Given the description of an element on the screen output the (x, y) to click on. 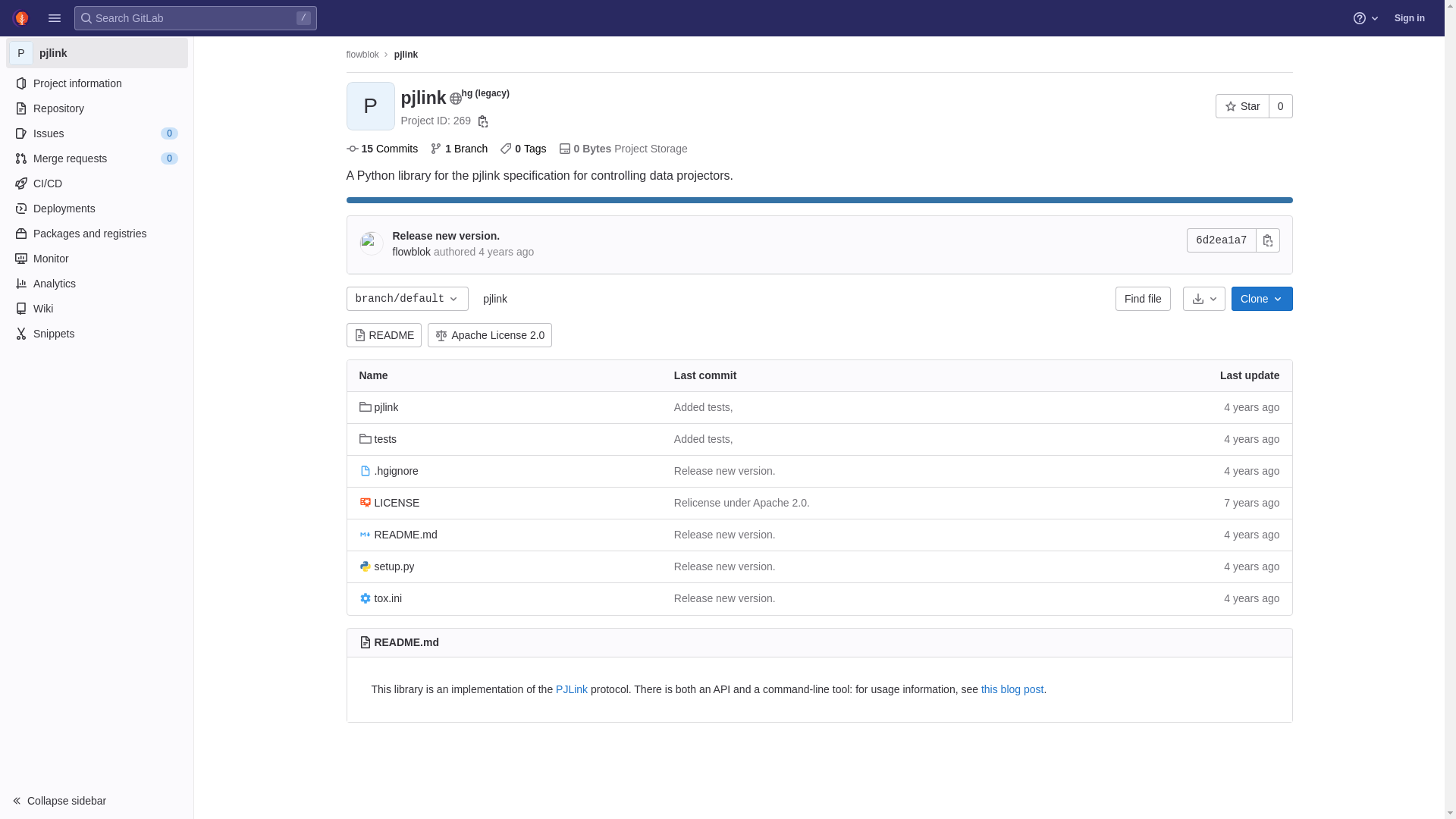
PJLink Element type: text (571, 689)
Release new version. Element type: text (724, 566)
Release new version. Element type: text (724, 598)
Select Archive Format Element type: text (1204, 298)
Copy commit SHA Element type: hover (1267, 240)
Apache License 2.0 Element type: text (489, 335)
flowblok Element type: text (361, 54)
15
 Commits Element type: text (381, 148)
README Element type: text (383, 335)
Analytics Element type: text (96, 283)
Clone Element type: text (1261, 298)
Find file Element type: text (1142, 298)
Wiki Element type: text (96, 308)
LICENSE Element type: text (389, 503)
Project information Element type: text (96, 83)
tests Element type: text (378, 439)
Release new version. Element type: text (724, 471)
Deployments Element type: text (96, 208)
flowblok Element type: text (411, 251)
README.md Element type: text (398, 534)
.hgignore Element type: text (388, 471)
Copy project ID Element type: hover (482, 121)
Homepage Element type: hover (21, 18)
Monitor Element type: text (96, 258)
tox.ini Element type: text (380, 598)
pjlink Element type: text (495, 298)
this blog post Element type: text (1012, 689)
Skip to content Element type: text (11, 18)
pjlink Element type: text (405, 54)
pjlink Element type: text (378, 407)
Help Element type: text (1366, 18)
Star Element type: text (1242, 106)
CI/CD Element type: text (96, 183)
Added tests, Element type: text (703, 407)
Added tests, Element type: text (703, 439)
Relicense under Apache 2.0. Element type: text (741, 503)
Snippets Element type: text (96, 333)
P
pjlink Element type: text (97, 52)
README.md Element type: text (406, 642)
0
 Tags Element type: text (522, 148)
Merge requests
0 Element type: text (96, 158)
1
 Branch Element type: text (458, 148)
Sign in Element type: text (1409, 18)
Packages and registries Element type: text (96, 233)
Release new version. Element type: text (446, 235)
Release new version. Element type: text (724, 534)
branch/default Element type: text (406, 298)
Issues
0 Element type: text (96, 133)
setup.py Element type: text (386, 566)
0 Element type: text (1280, 106)
Repository Element type: text (96, 108)
